Given the description of an element on the screen output the (x, y) to click on. 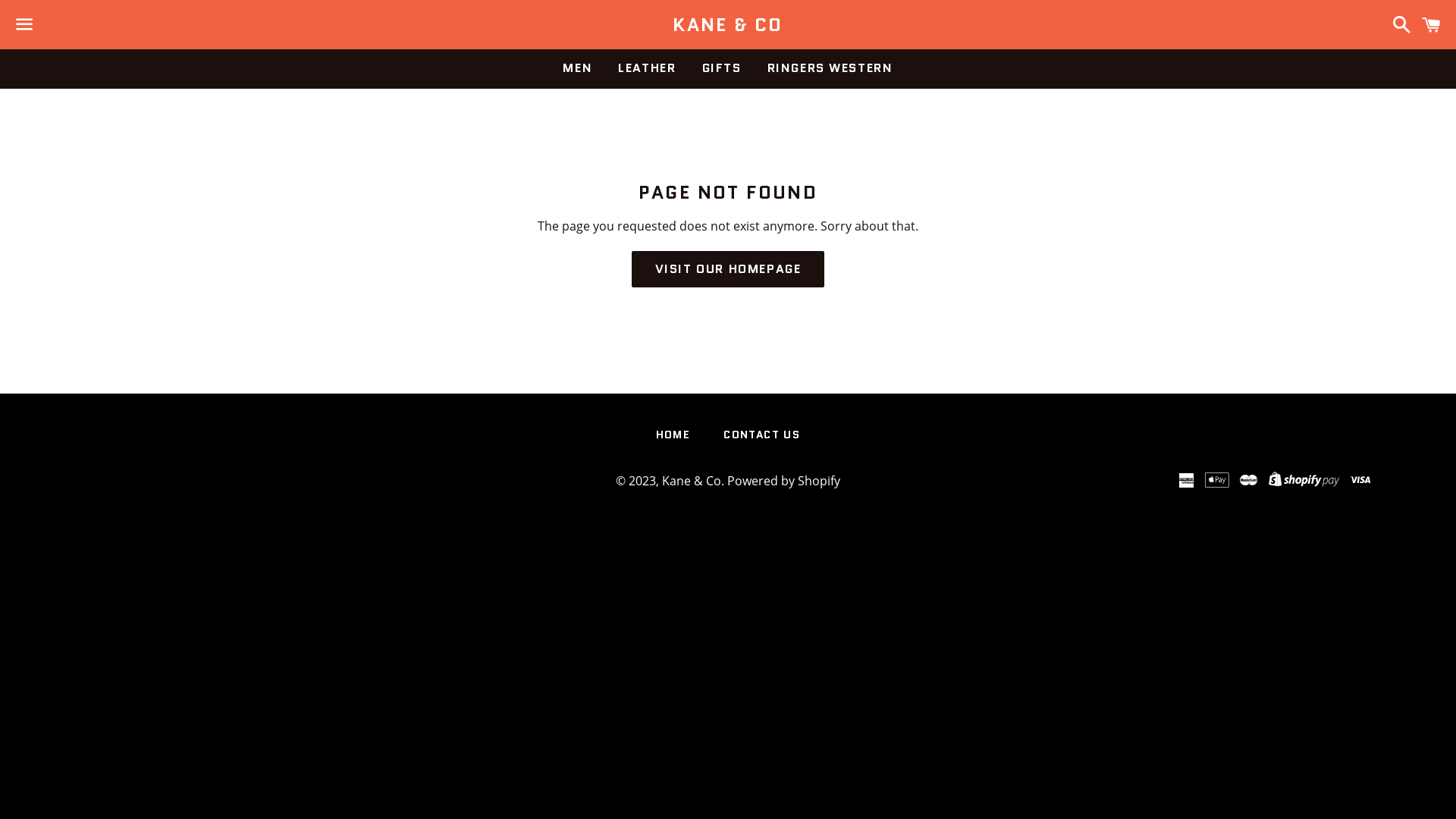
Search Element type: text (1397, 24)
MEN Element type: text (577, 68)
Menu Element type: text (24, 24)
KANE & CO Element type: text (727, 24)
LEATHER Element type: text (646, 68)
Powered by Shopify Element type: text (783, 480)
HOME Element type: text (673, 434)
CONTACT US Element type: text (761, 434)
GIFTS Element type: text (721, 68)
Kane & Co Element type: text (691, 480)
VISIT OUR HOMEPAGE Element type: text (728, 269)
Cart Element type: text (1431, 24)
RINGERS WESTERN Element type: text (829, 68)
